Given the description of an element on the screen output the (x, y) to click on. 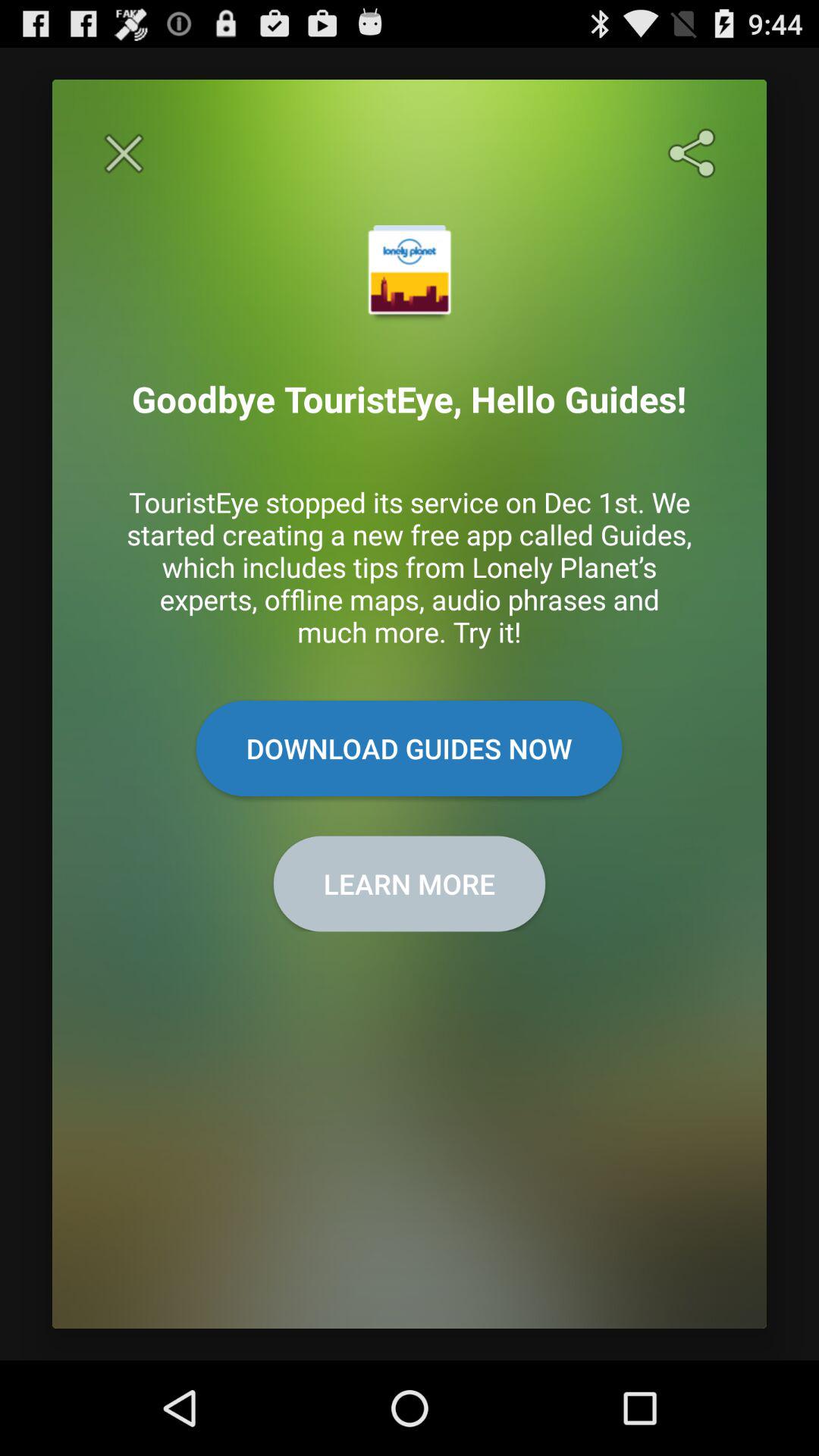
close pop-up (123, 153)
